Given the description of an element on the screen output the (x, y) to click on. 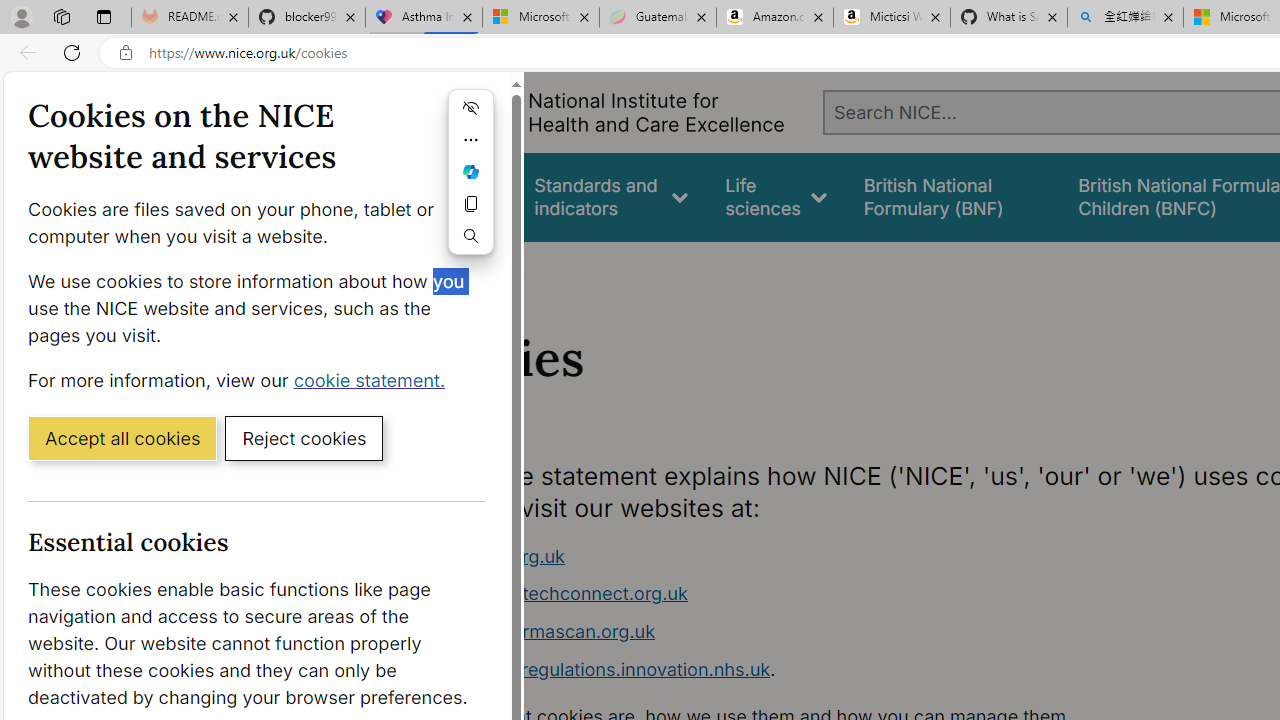
Guidance (458, 196)
Life sciences (776, 196)
Hide menu (470, 107)
www.nice.org.uk (492, 556)
Mini menu on text selection (470, 172)
Accept all cookies (122, 437)
www.ukpharmascan.org.uk (538, 631)
